Given the description of an element on the screen output the (x, y) to click on. 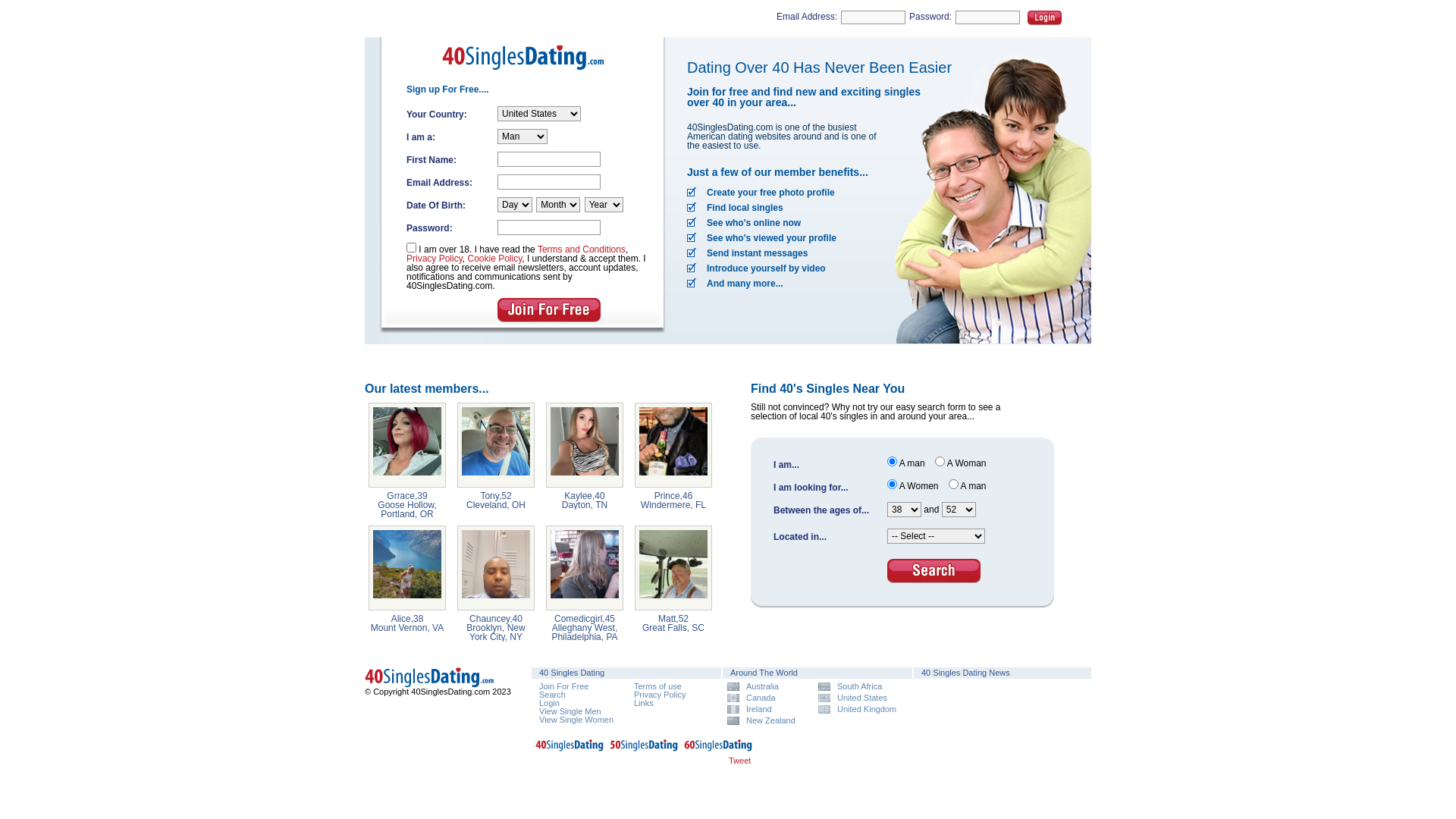
Privacy Policy Element type: text (434, 258)
40 Singles Dating Element type: hover (432, 684)
Privacy Policy Element type: text (659, 694)
Links Element type: text (643, 702)
Join For Free Element type: text (563, 685)
Terms and Conditions Element type: text (581, 249)
40 Singles Dating Element type: hover (569, 748)
40 Singles Dating Element type: hover (527, 74)
Grrace, 39 from Goose Hollow, Portland, OR Element type: hover (406, 444)
Cookie Policy Element type: text (494, 258)
Prince, 46 from Windermere, FL Element type: hover (673, 444)
Chauncey, 40 from Brooklyn, New York City, NY Element type: hover (495, 567)
Login Element type: text (549, 702)
Kaylee, 40 from Dayton, TN Element type: hover (584, 444)
Search Element type: text (552, 694)
United Kingdom Element type: text (857, 709)
Matt, 52 from Great Falls, SC Element type: hover (673, 567)
40 Singles Dating News Element type: text (965, 672)
Canada Element type: text (766, 697)
United States Element type: text (857, 697)
View Single Men Element type: text (570, 710)
Australia Element type: text (766, 686)
Login Element type: text (1044, 17)
Comedicgirl, 45 from Alleghany West, Philadelphia, PA Element type: hover (584, 567)
Ireland Element type: text (766, 709)
Terms of use Element type: text (657, 685)
View Single Women Element type: text (576, 719)
South Africa Element type: text (857, 686)
Tony, 52 from Cleveland, OH Element type: hover (495, 444)
60 Singles Dating Element type: hover (718, 748)
New Zealand Element type: text (766, 720)
50 Singles Dating Element type: hover (643, 748)
Tweet Element type: text (739, 760)
40 Singles Dating Element type: hover (432, 677)
Alice, 38 from Mount Vernon, VA Element type: hover (406, 567)
Register Element type: text (548, 310)
Search for 40+ dating singles Element type: text (933, 570)
